Given the description of an element on the screen output the (x, y) to click on. 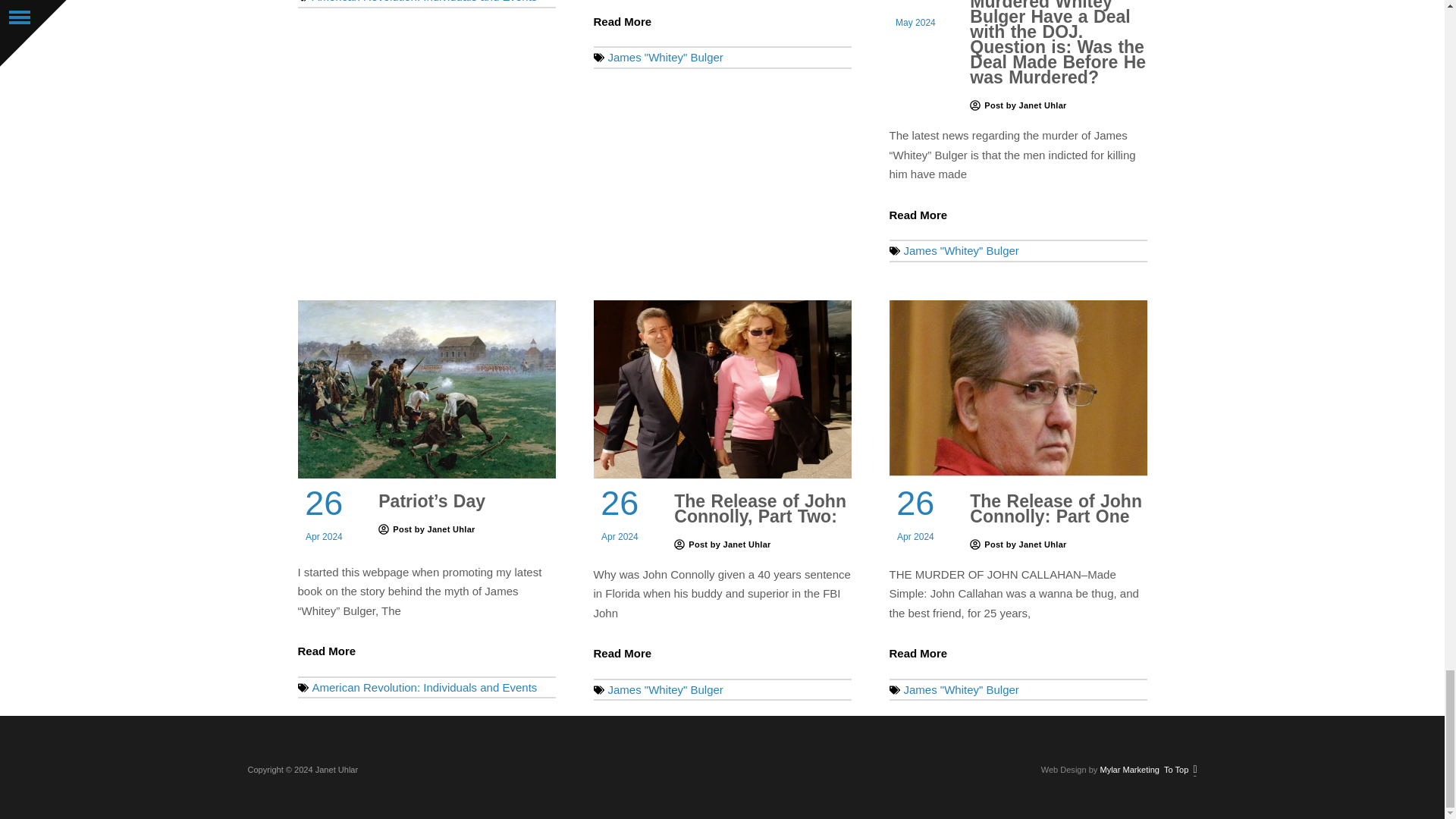
Read More (621, 21)
connolly-john (721, 389)
May 2024 (914, 23)
patriots day (425, 389)
Post by Janet Uhlar (1017, 104)
James "Whitey" Bulger (665, 56)
American Revolution: Individuals and Events (425, 1)
